Given the description of an element on the screen output the (x, y) to click on. 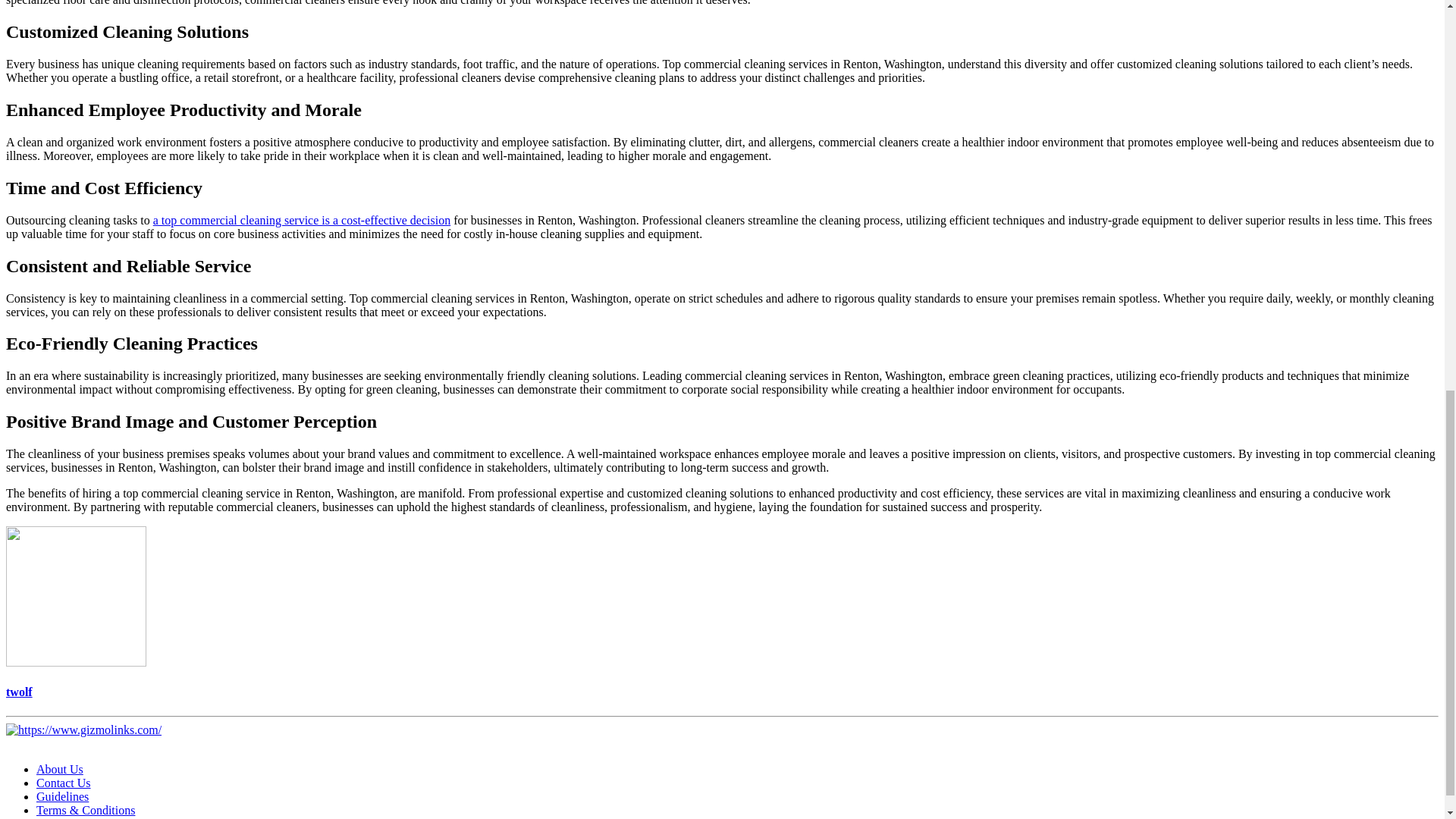
Guidelines (62, 796)
About Us (59, 768)
Contact Us (63, 782)
